Given the description of an element on the screen output the (x, y) to click on. 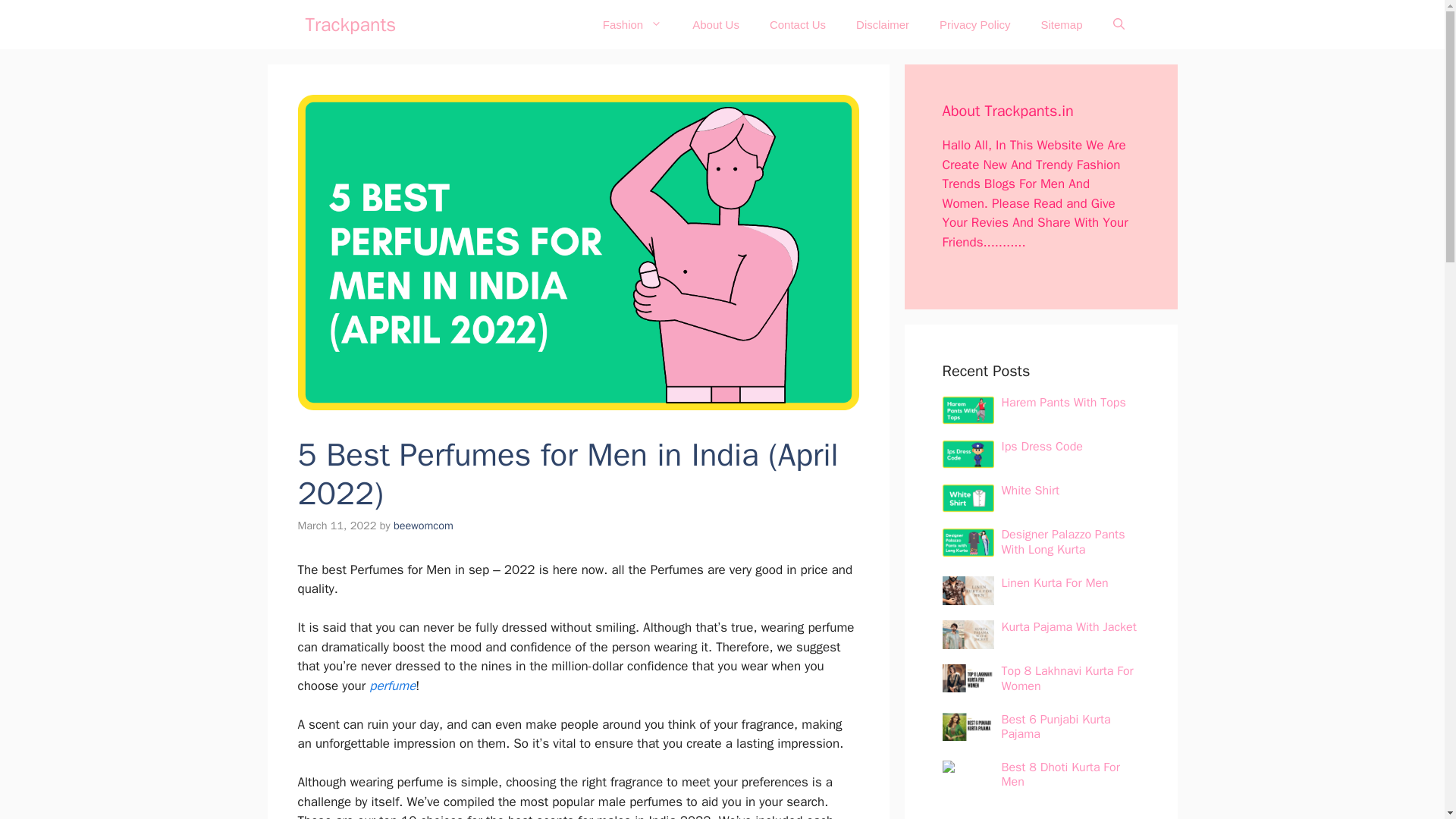
Disclaimer (882, 23)
About Us (715, 23)
Harem Pants With Tops (1063, 401)
Designer Palazzo Pants With Long Kurta (1062, 541)
Trackpants (350, 24)
White Shirt (1030, 490)
Fashion (632, 23)
Linen Kurta For Men (1054, 582)
perfume (391, 685)
Ips Dress Code (1041, 446)
beewomcom (422, 525)
Best 8 Dhoti Kurta For Men (1060, 774)
Contact Us (797, 23)
Privacy Policy (974, 23)
Top 8 Lakhnavi Kurta For Women (1066, 677)
